Given the description of an element on the screen output the (x, y) to click on. 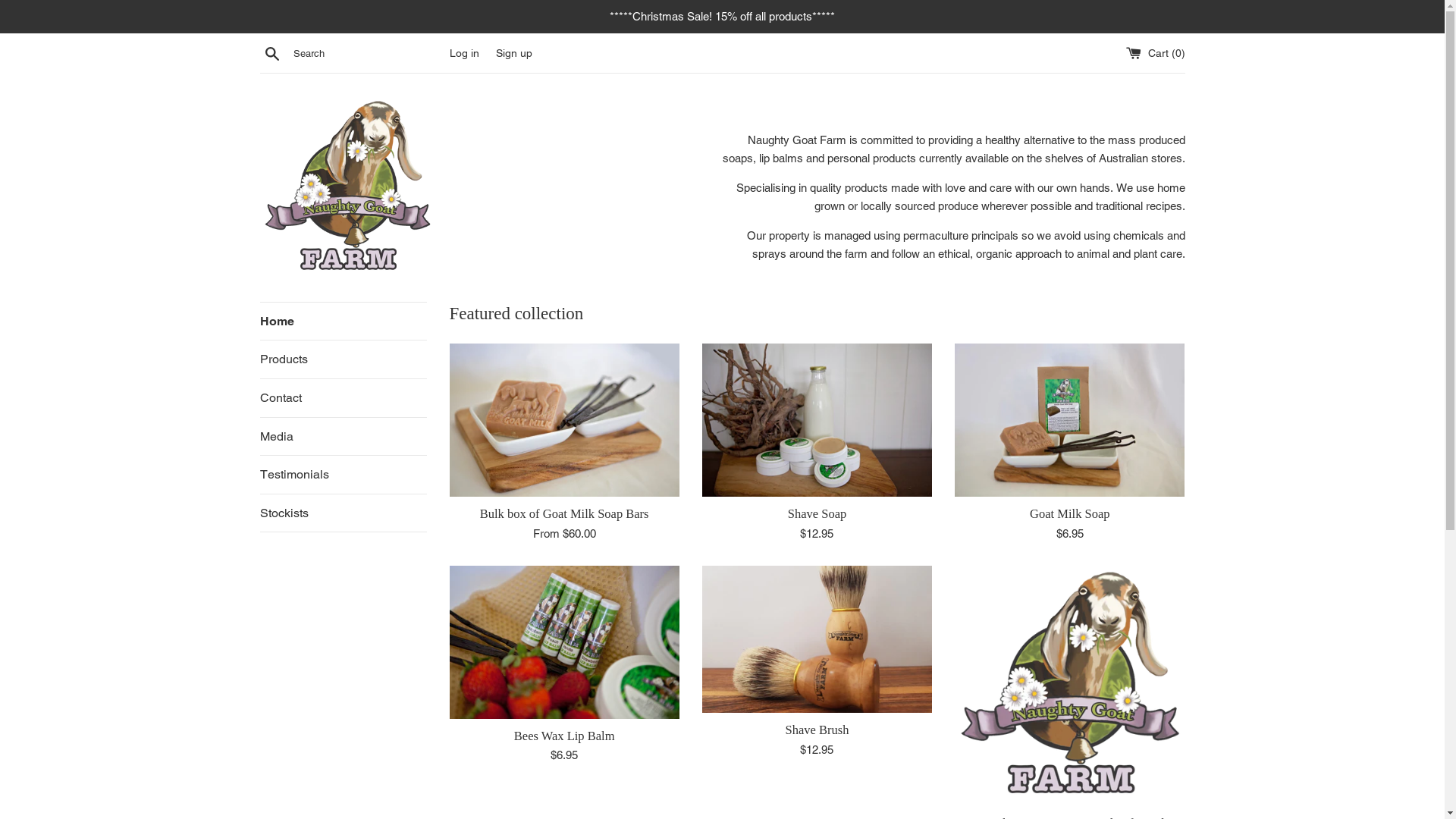
Log in Element type: text (463, 53)
Bees Wax Lip Balm Element type: hover (563, 641)
Shave Soap Element type: hover (816, 419)
Sign up Element type: text (513, 53)
Testimonials Element type: text (342, 474)
Shave Soap Element type: text (816, 513)
Shave Brush Element type: hover (816, 639)
Stockists Element type: text (342, 513)
Home Element type: text (342, 321)
Contact Element type: text (342, 398)
Goat Milk Soap Element type: hover (1069, 419)
Search Element type: text (271, 52)
Media Element type: text (342, 436)
Naughty Goat Farm Digital Gift Card Element type: hover (1069, 685)
Shave Brush Element type: text (817, 729)
Cart (0) Element type: text (1154, 53)
Goat Milk Soap Element type: text (1069, 513)
Bulk box of Goat Milk Soap Bars Element type: text (564, 513)
Products Element type: text (342, 359)
Bulk box of Goat Milk Soap Bars Element type: hover (563, 419)
Bees Wax Lip Balm Element type: text (564, 735)
